Given the description of an element on the screen output the (x, y) to click on. 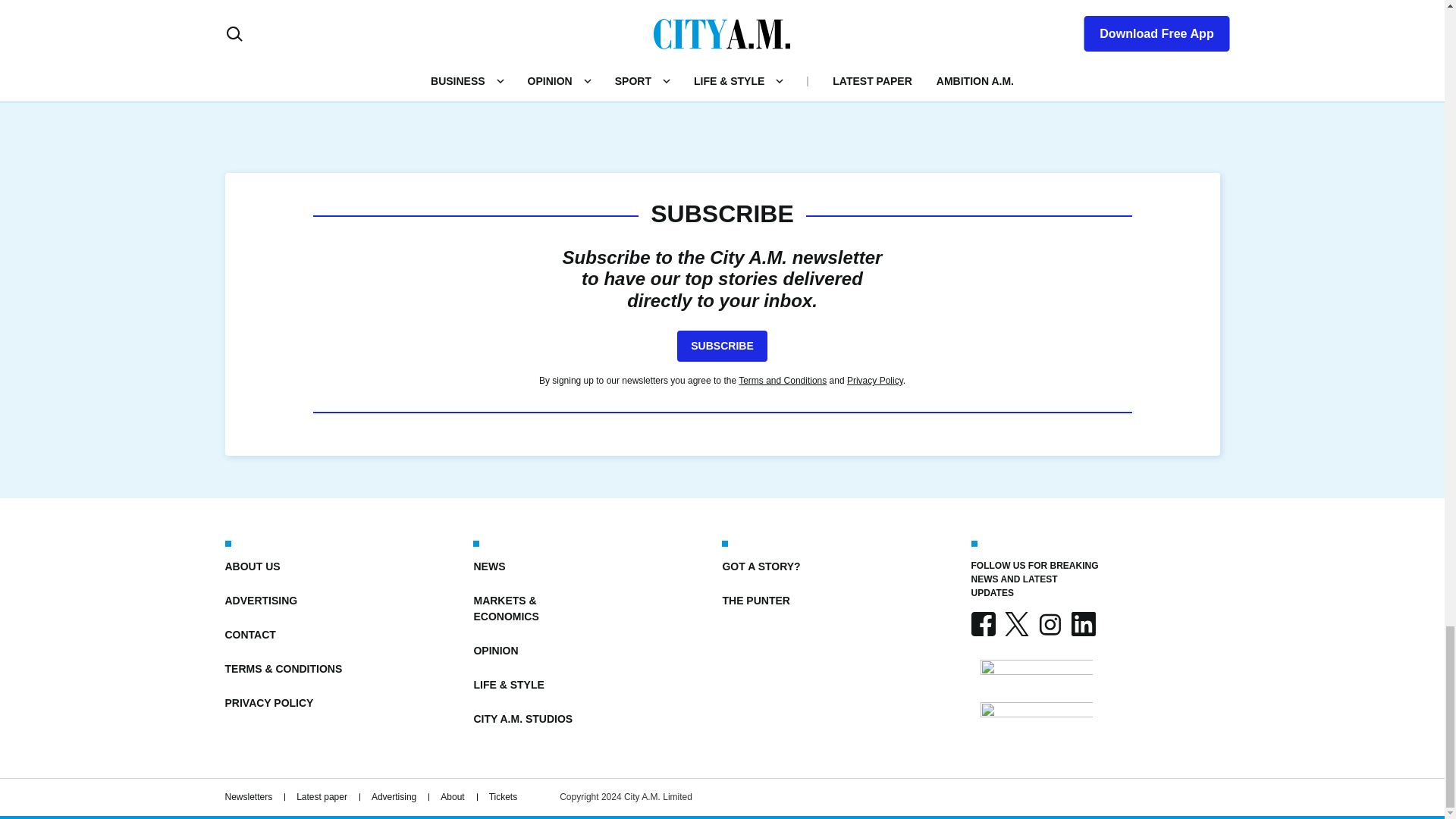
LINKEDIN (1082, 623)
X (1015, 623)
INSTAGRAM (1048, 623)
FACEBOOK (982, 623)
